Given the description of an element on the screen output the (x, y) to click on. 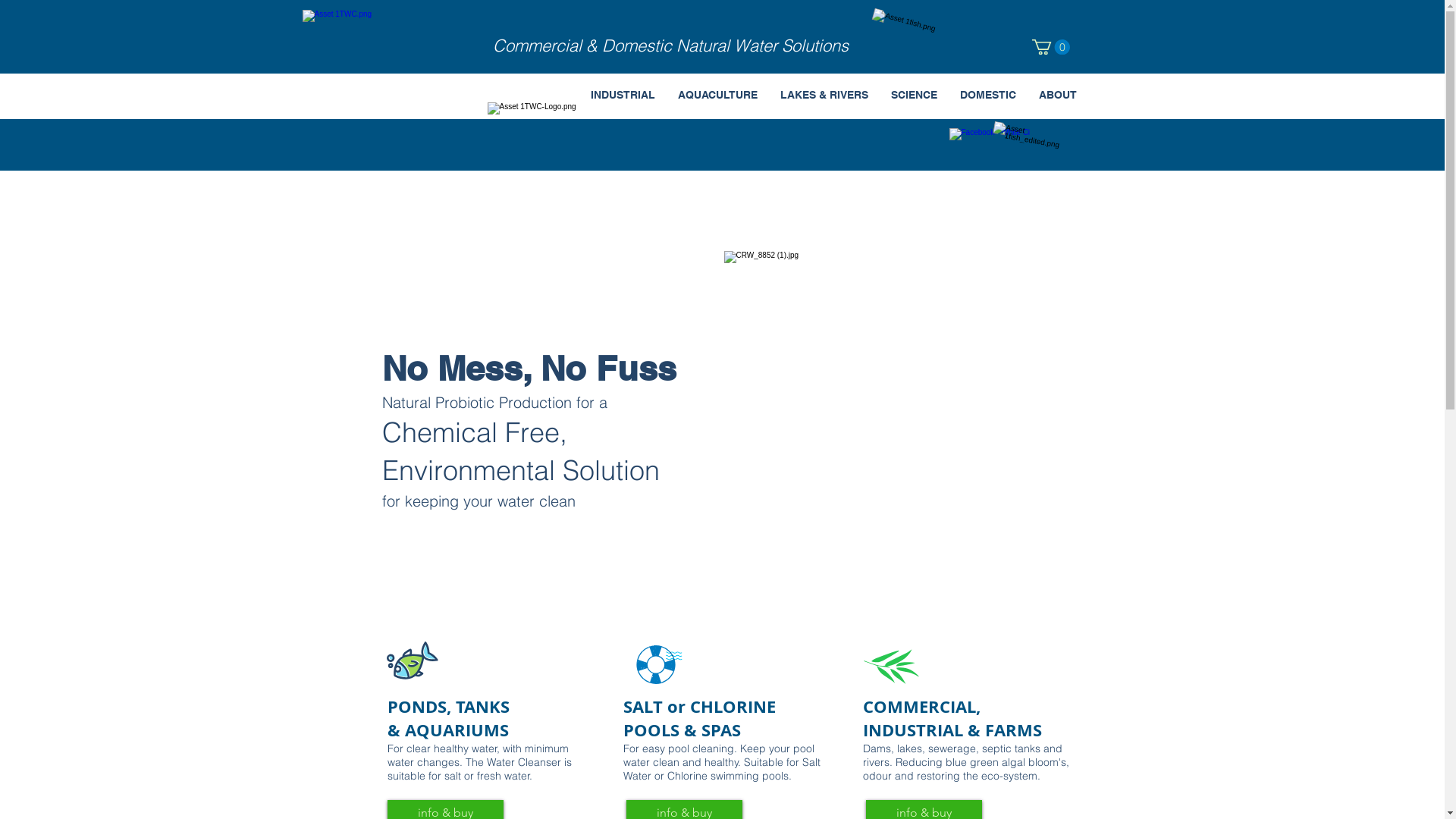
0 Element type: text (1050, 46)
DOMESTIC Element type: text (986, 94)
